Given the description of an element on the screen output the (x, y) to click on. 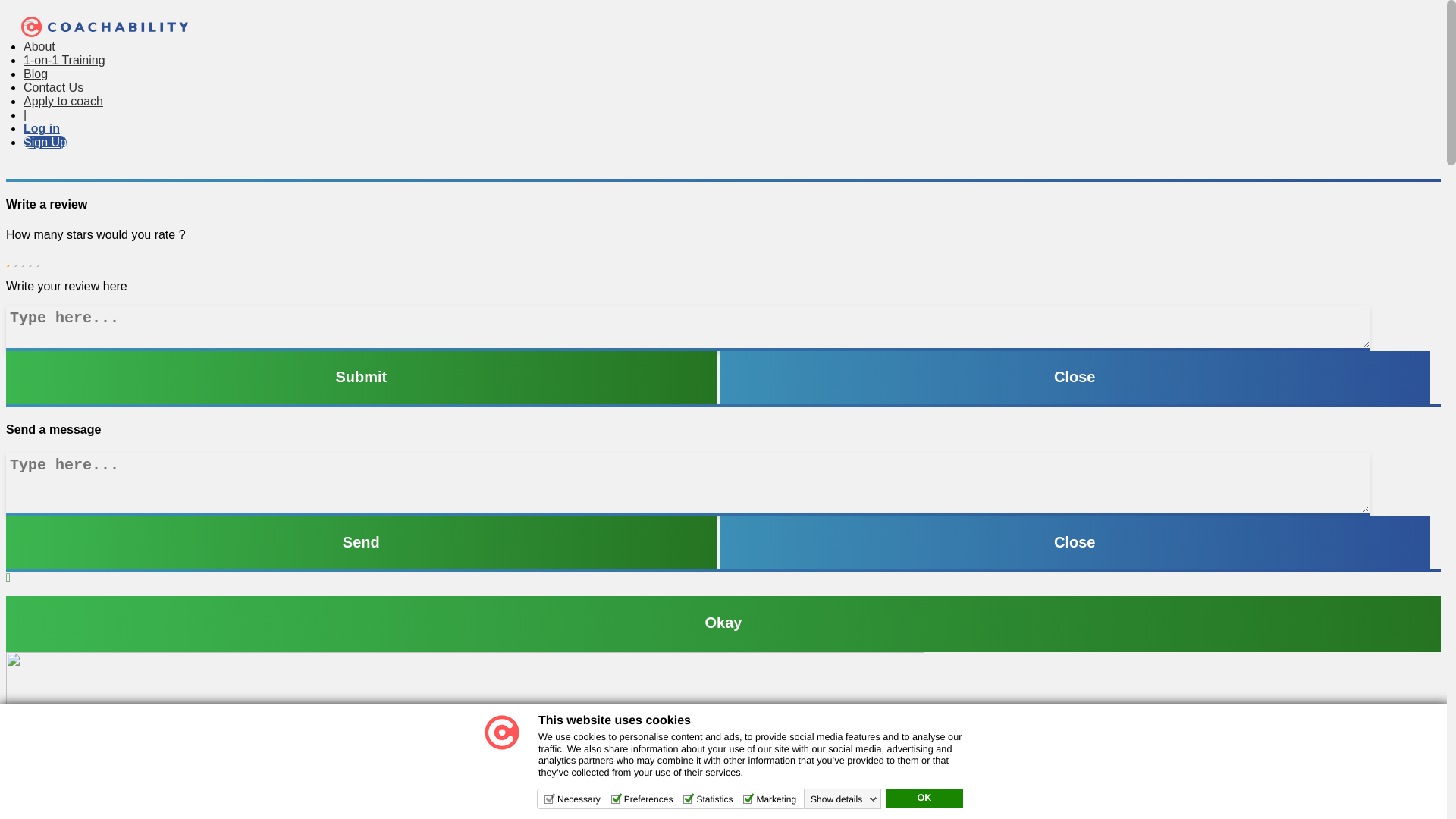
About (39, 46)
OK (923, 798)
Contact Us (52, 87)
Show details (844, 799)
1-on-1 Training (63, 60)
Apply to coach (63, 101)
